Given the description of an element on the screen output the (x, y) to click on. 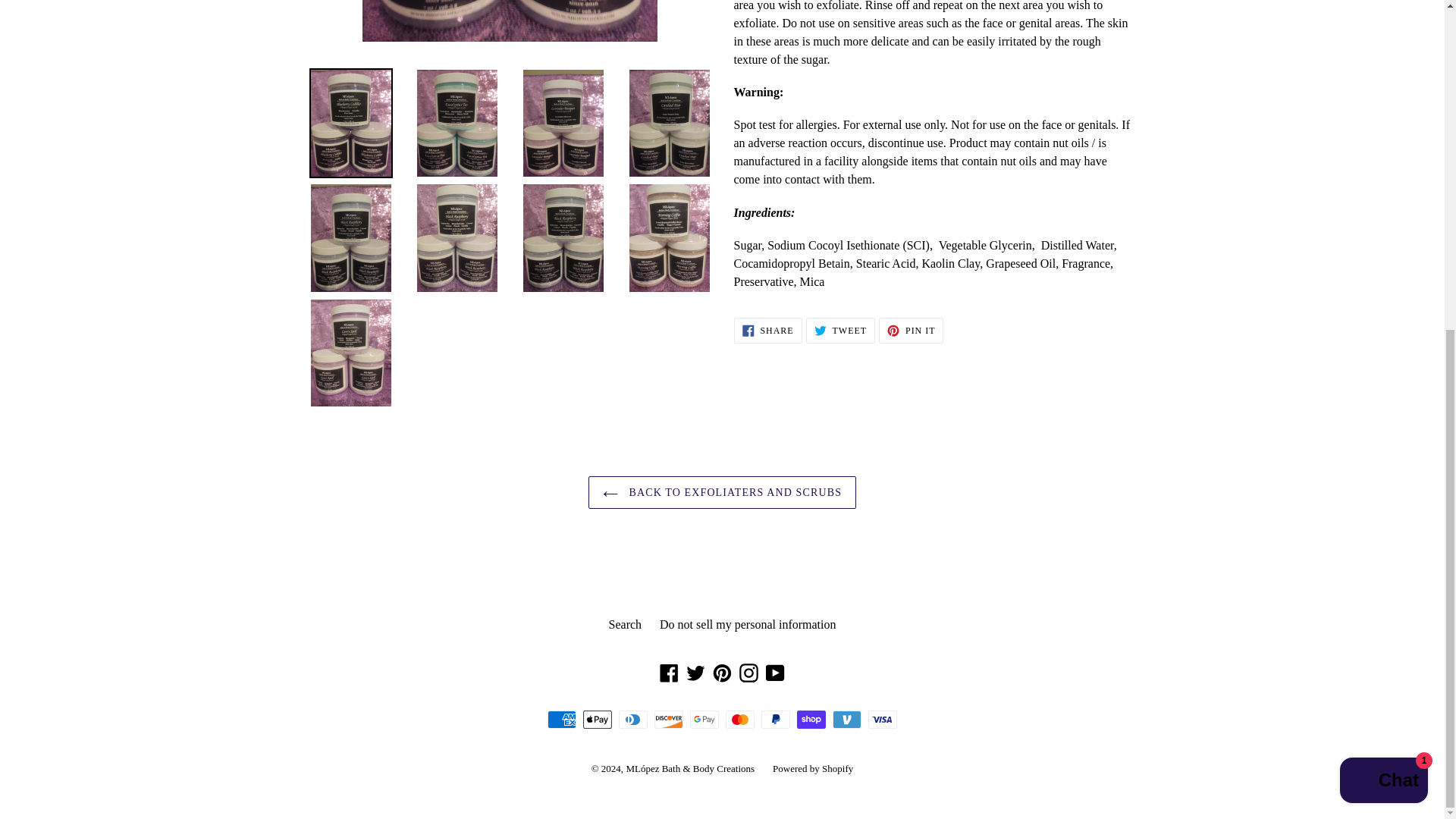
BACK TO EXFOLIATERS AND SCRUBS (767, 330)
Pinterest (722, 491)
Shopify online store chat (721, 672)
Instagram (1383, 235)
Search (748, 672)
YouTube (625, 624)
Facebook (774, 672)
Powered by Shopify (911, 330)
Twitter (669, 672)
Do not sell my personal information (813, 767)
